Given the description of an element on the screen output the (x, y) to click on. 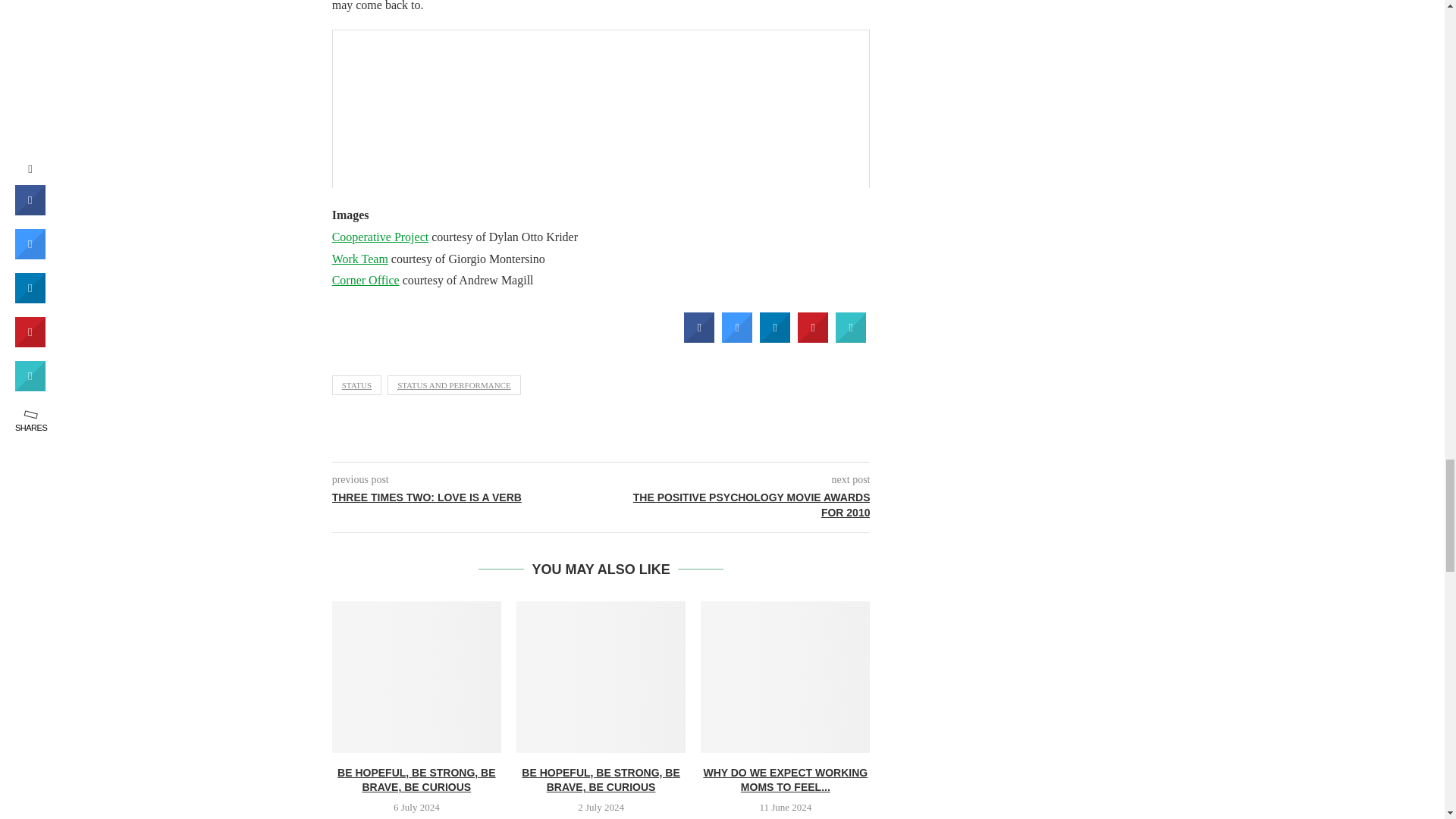
Share on Twitter (737, 338)
Share to LinkedIn (775, 338)
Share on Facebook (699, 338)
